Given the description of an element on the screen output the (x, y) to click on. 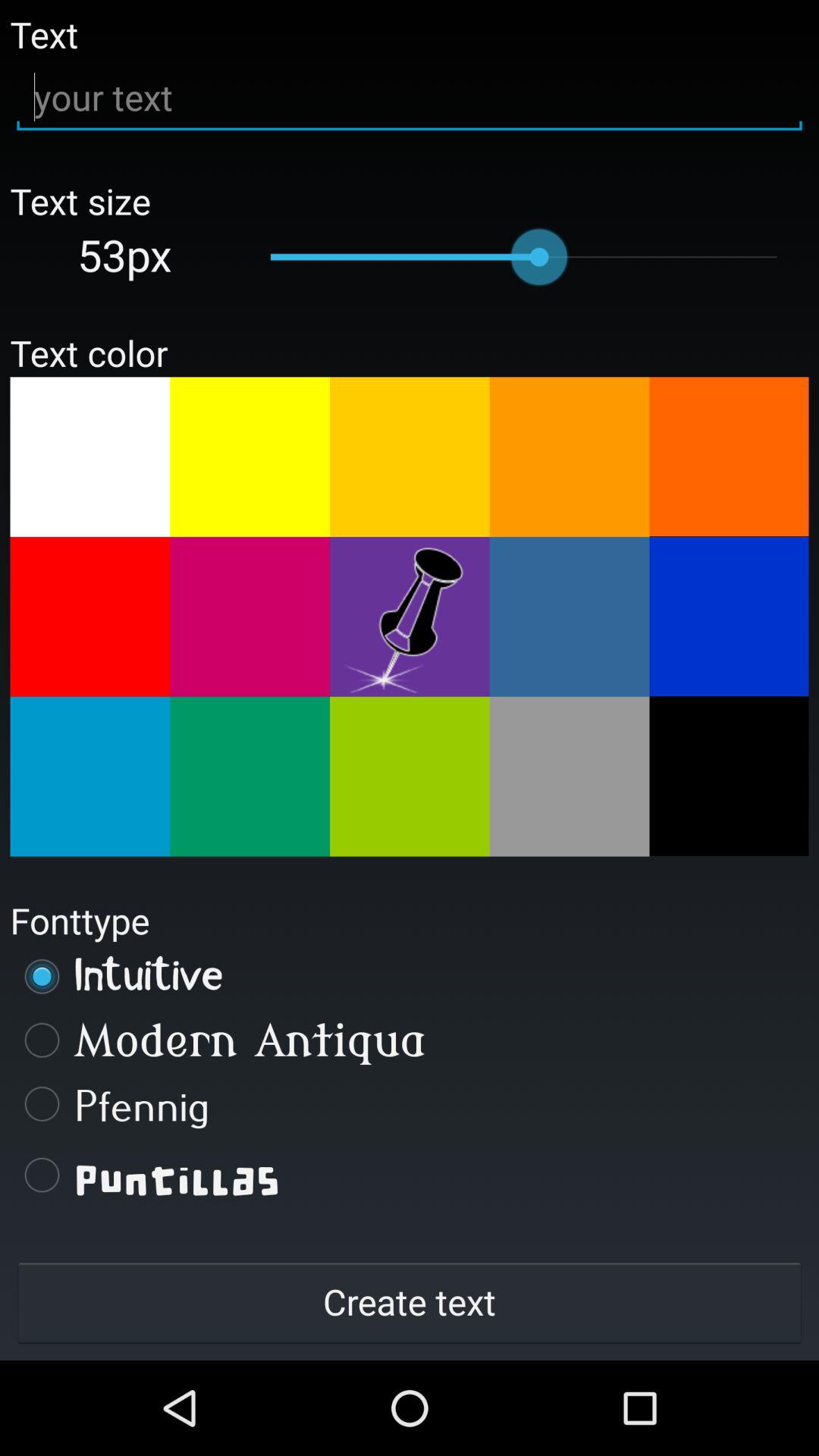
turn on the radio button below the pfennig icon (409, 1174)
